Given the description of an element on the screen output the (x, y) to click on. 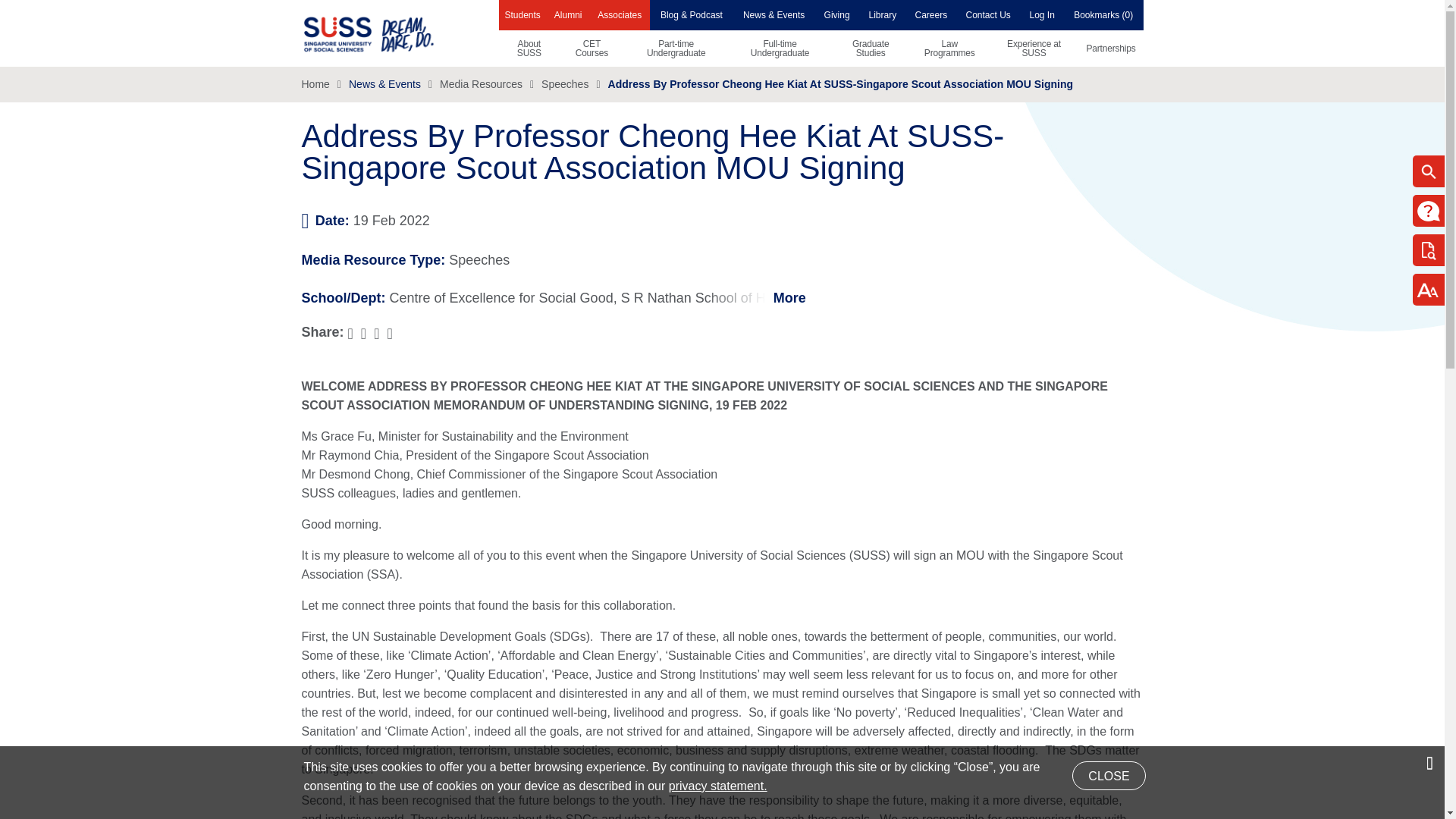
About SUSS (529, 48)
Singapore University of Social Sciences (394, 33)
About SUSS (529, 48)
